Given the description of an element on the screen output the (x, y) to click on. 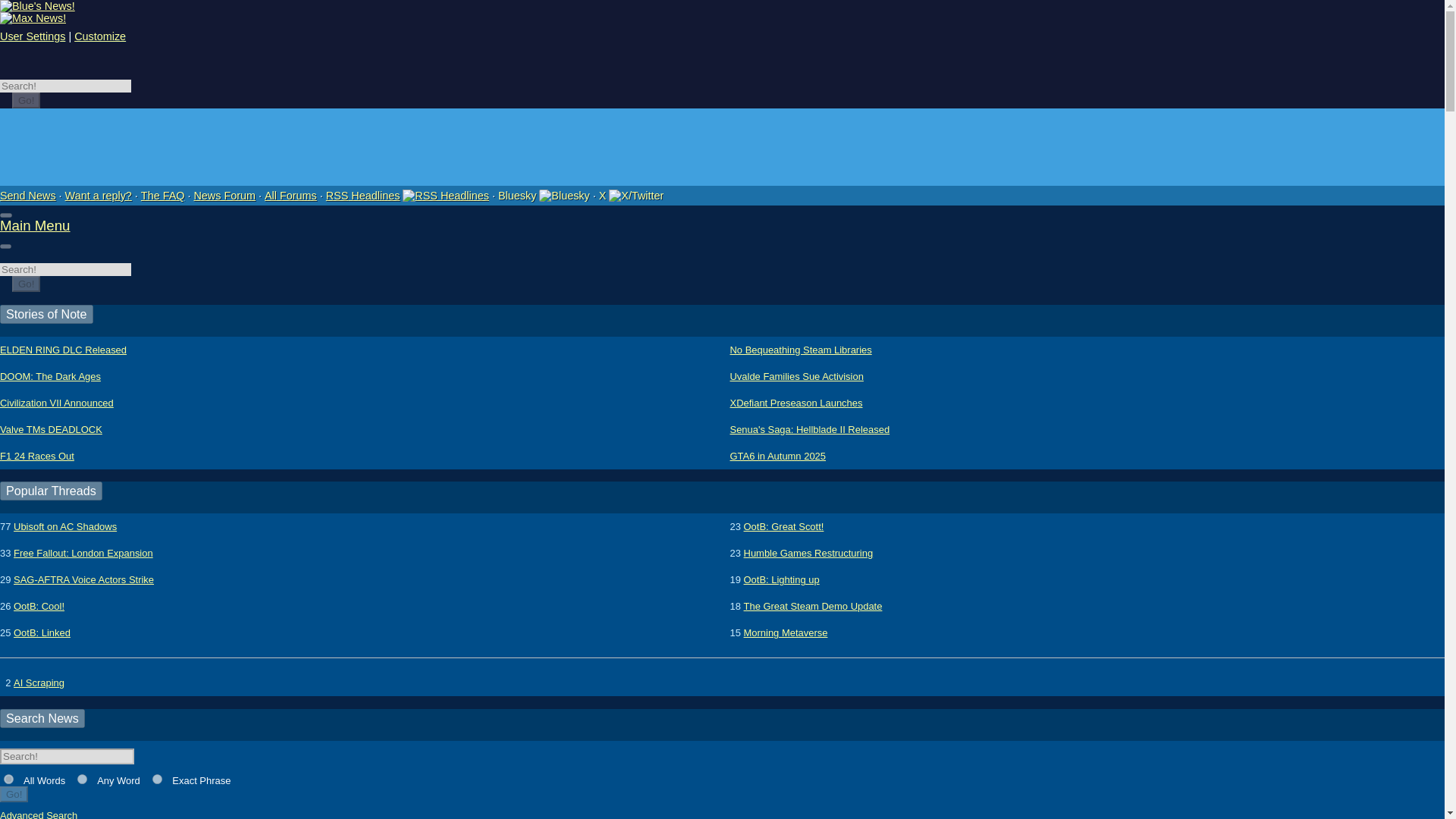
2 (82, 778)
User Settings (32, 36)
Bluesky (543, 195)
Main Menu (34, 225)
DOOM: The Dark Ages (50, 376)
Bluesky  (543, 195)
Civilization VII Announced (56, 402)
GTA6 in Autumn 2025 (777, 456)
Bluesky (563, 195)
Morning Metaverse (786, 632)
Go! (13, 794)
Go! (25, 100)
News Forum (224, 195)
OotB: Linked (41, 632)
Send News (28, 195)
